Given the description of an element on the screen output the (x, y) to click on. 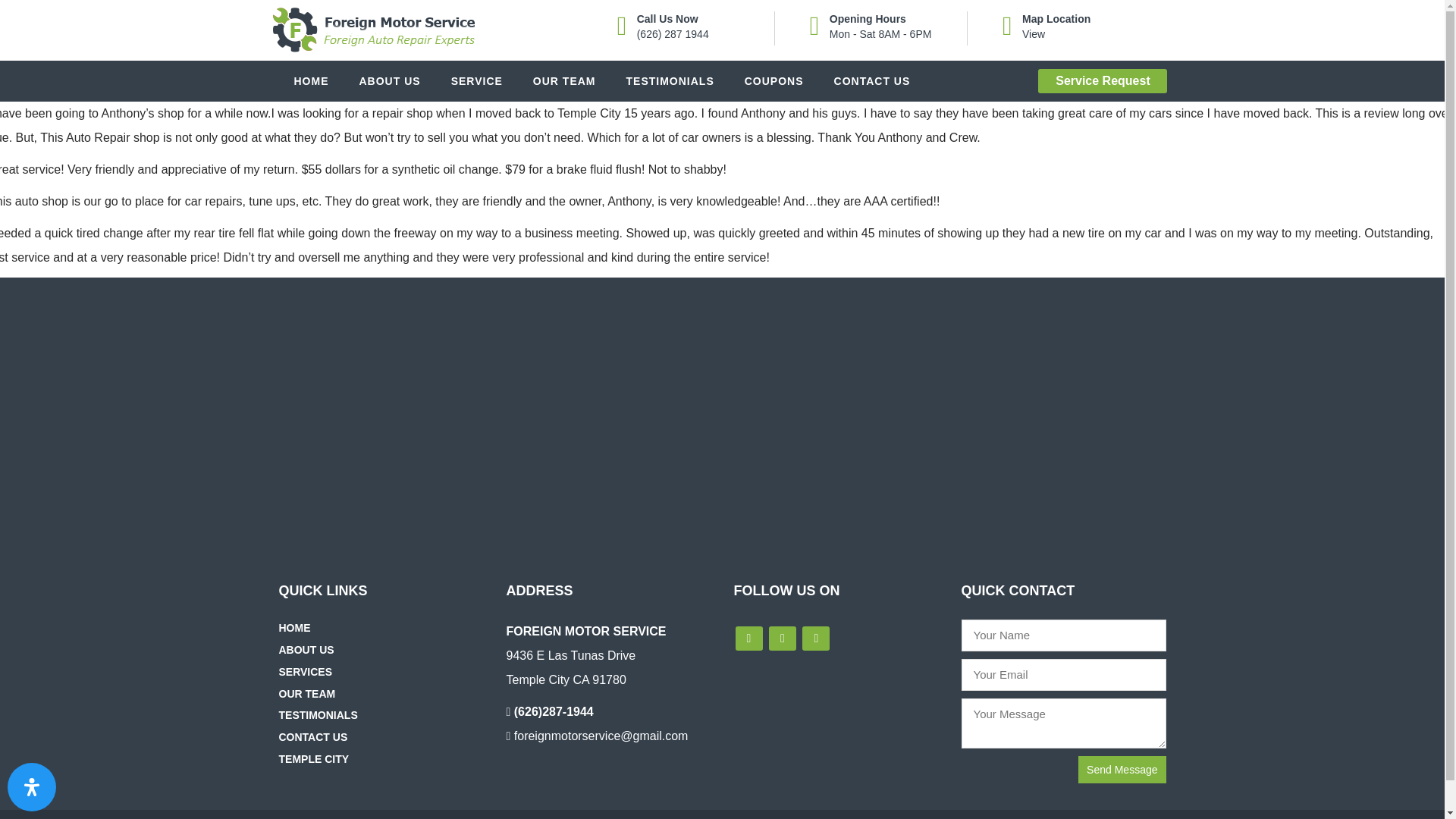
CONTACT US (872, 80)
SERVICES (309, 671)
Send Message (1122, 768)
Carshire (372, 30)
ABOUT US (389, 80)
ABOUT US (310, 649)
TESTIMONIALS (670, 80)
TEMPLE CITY (317, 758)
CONTACT US (317, 736)
OUR TEAM (311, 693)
HOME (298, 627)
OUR TEAM (564, 80)
SERVICE (476, 80)
View (1033, 33)
Service Request (1102, 80)
